Given the description of an element on the screen output the (x, y) to click on. 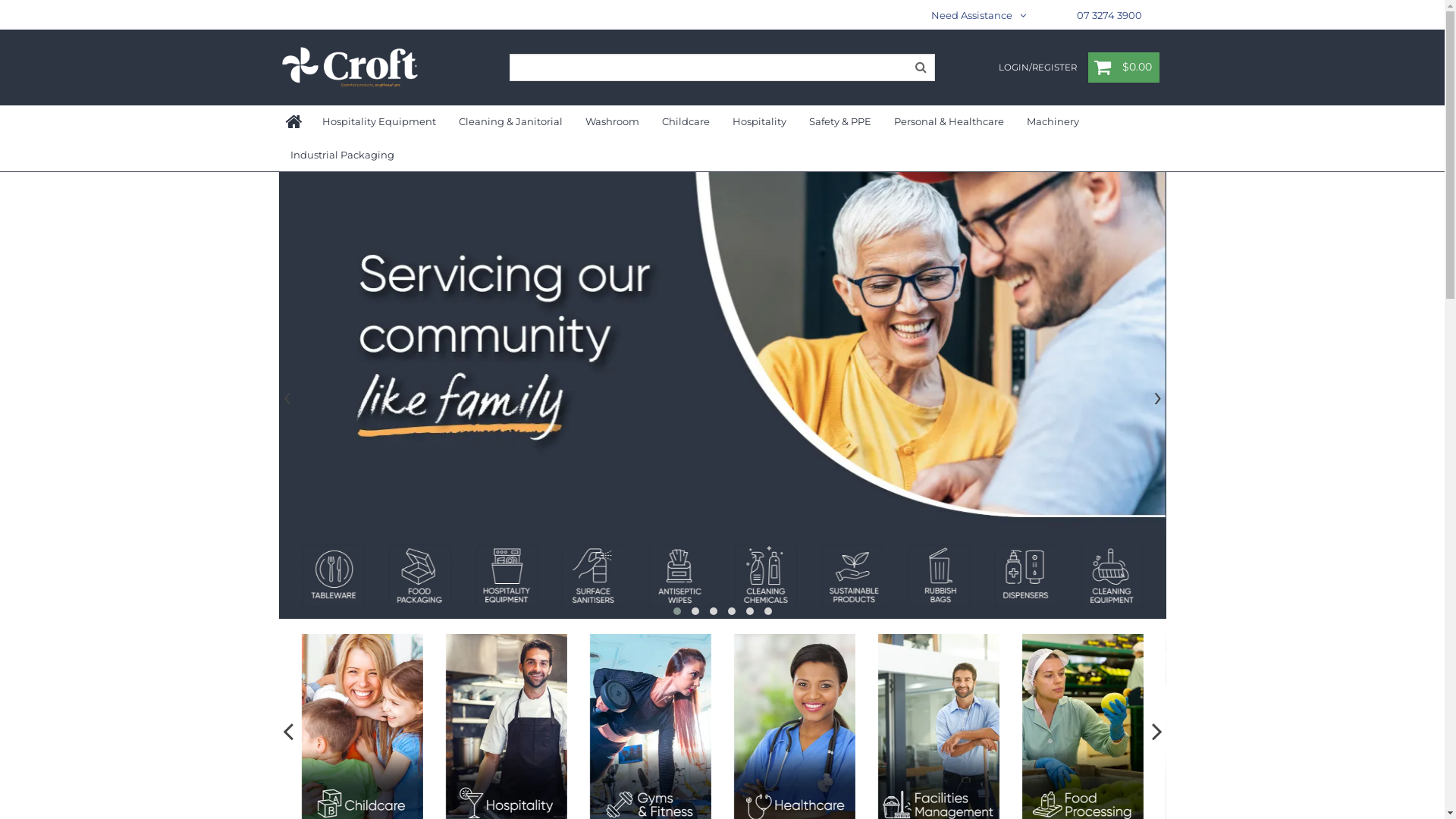
Sustainable Products Element type: hover (333, 575)
Hospitality Element type: text (758, 121)
Need Assistance Element type: text (978, 15)
Washroom Dispensers Element type: hover (506, 575)
Home Element type: text (294, 121)
07 3274 3900 Element type: text (1109, 15)
Safety & PPE Element type: text (839, 121)
PPE Safety Gloves Element type: hover (679, 575)
Childcare Element type: text (685, 121)
PPE masks glasses faceshields Element type: hover (938, 575)
Machinery Element type: text (1051, 121)
Personal & Healthcare Element type: text (948, 121)
Hospitality Equipment Element type: text (378, 121)
Microfibre Cloths Element type: hover (765, 575)
Search Element type: text (921, 67)
cleaning equipment Element type: hover (592, 575)
Kitchen Equipment Element type: hover (1111, 575)
Mops Brooms Buckets Element type: hover (852, 575)
$0.00 Element type: text (1123, 67)
coffee cups Element type: hover (1025, 575)
cleaning chemicals Element type: hover (247, 575)
Garbage Bags Element type: hover (419, 575)
LOGIN/REGISTER Element type: text (1037, 67)
Washroom Element type: text (611, 121)
Industrial Packaging Element type: text (342, 154)
Cleaning & Janitorial Element type: text (510, 121)
